Given the description of an element on the screen output the (x, y) to click on. 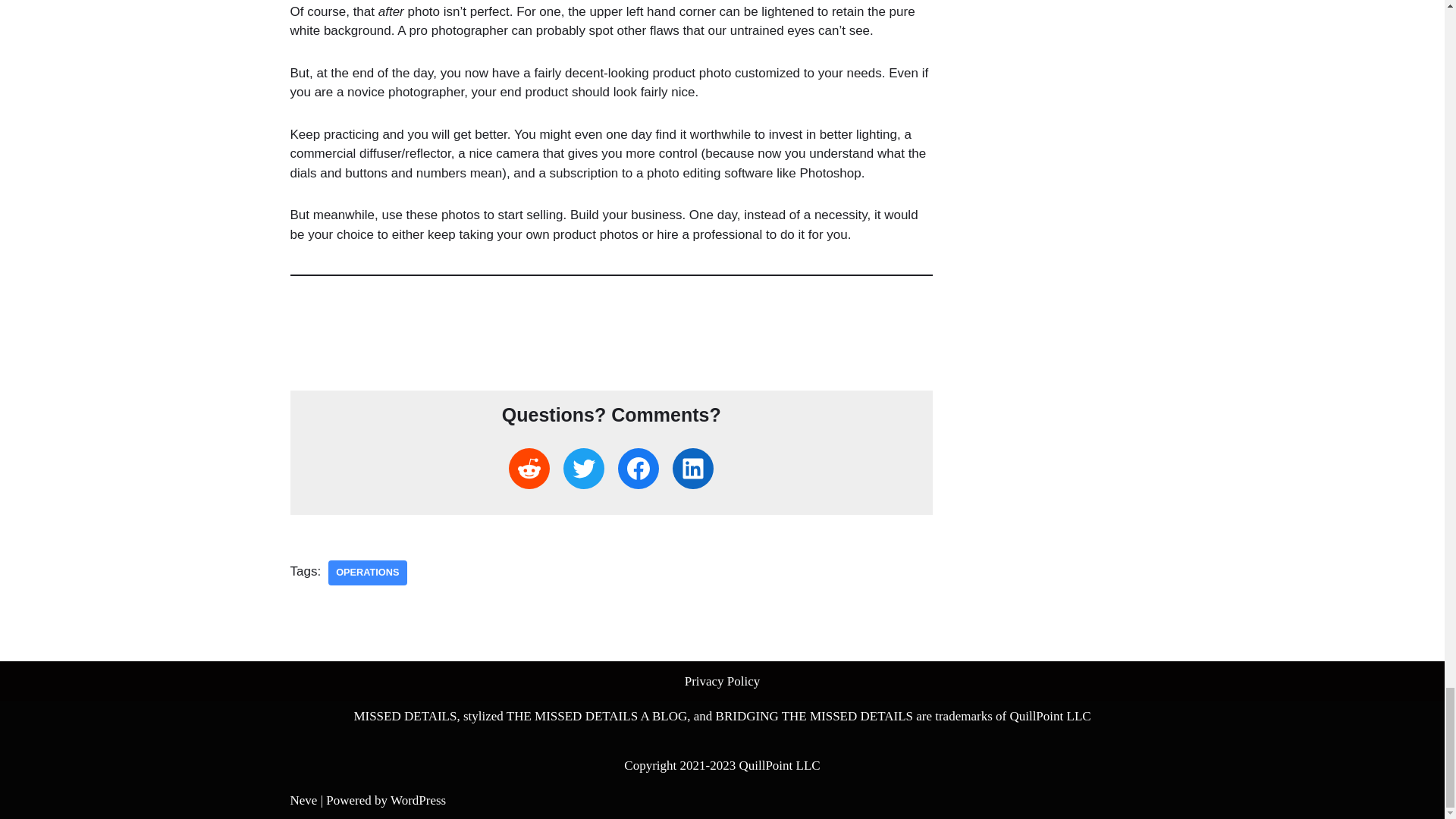
Operations (367, 572)
OPERATIONS (367, 572)
